Given the description of an element on the screen output the (x, y) to click on. 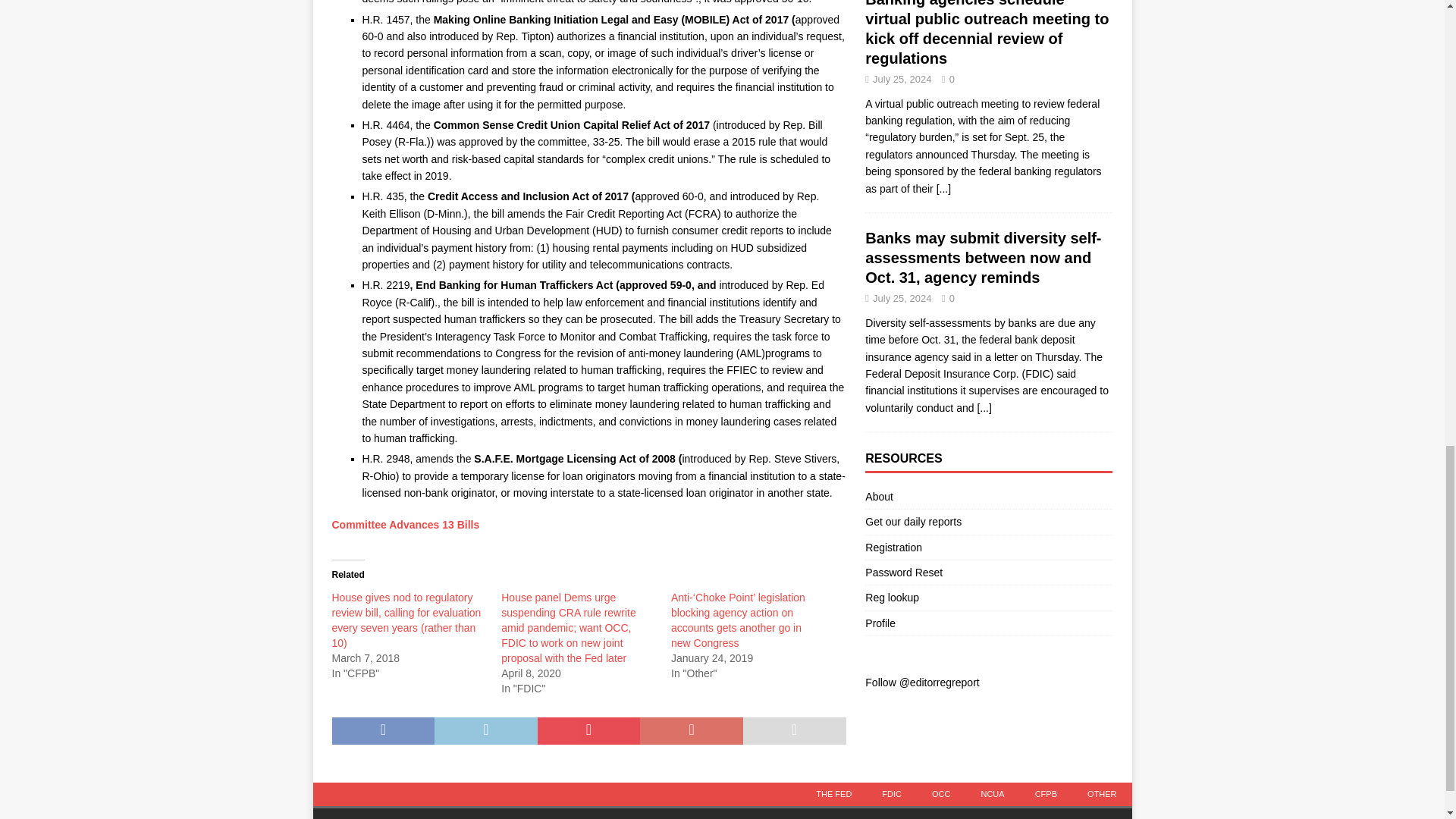
Committee Advances 13 Bills (405, 524)
